Given the description of an element on the screen output the (x, y) to click on. 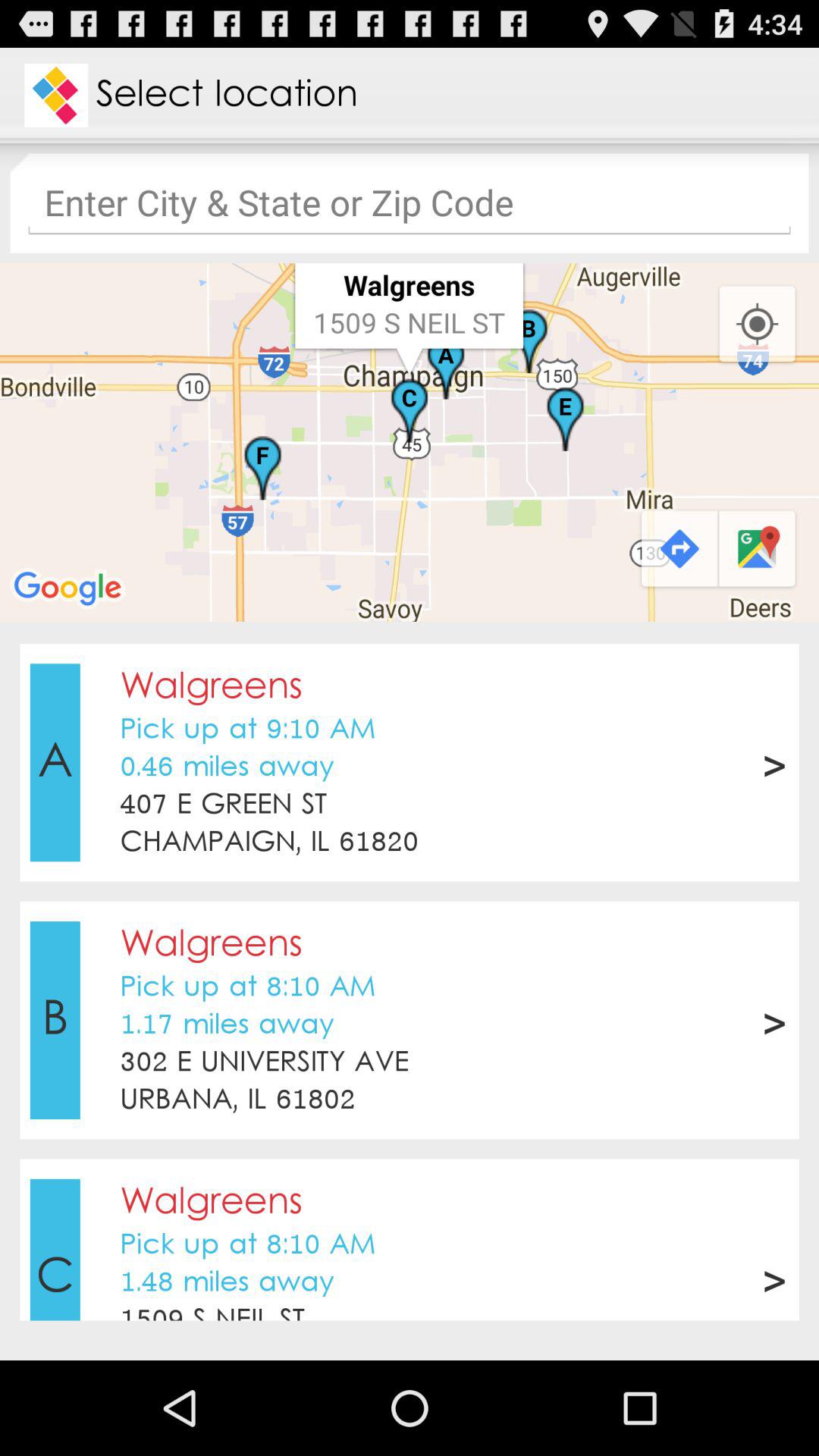
turn on the item next to > icon (223, 805)
